Given the description of an element on the screen output the (x, y) to click on. 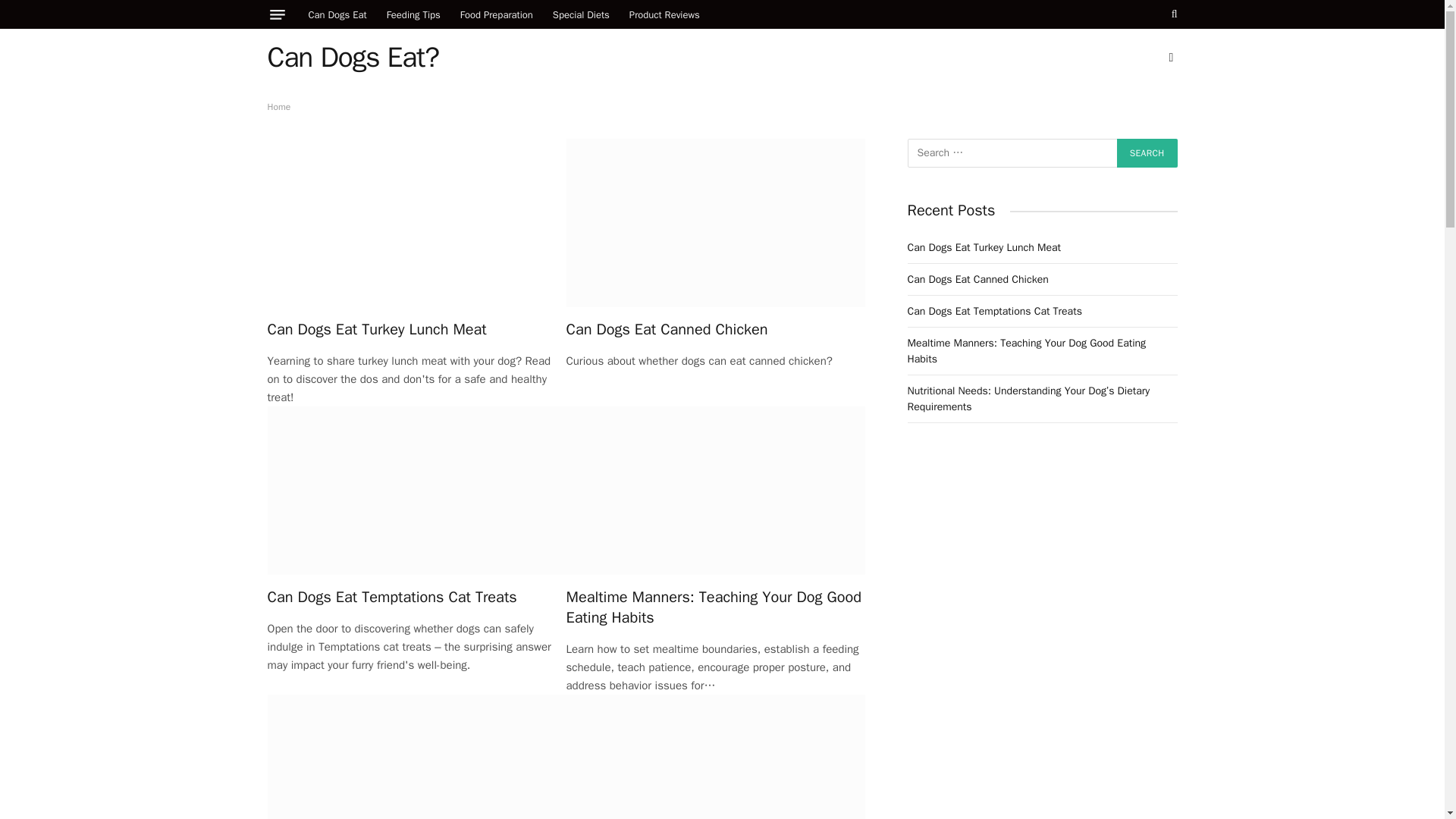
Search (1146, 152)
Feeding Tips (413, 14)
Mealtime Manners: Teaching Your Dog Good Eating Habits (715, 607)
Can Dogs Eat Turkey Lunch Meat (416, 222)
Can Dogs Eat Temptations Cat Treats (416, 597)
Can Dogs Eat? (352, 57)
Switch to Dark Design - easier on eyes. (1168, 57)
Can Dogs Eat Turkey Lunch Meat (416, 329)
Food Preparation (496, 14)
Can Dogs Eat? (352, 57)
Can Dogs Eat Canned Chicken (715, 222)
Can Dogs Eat Temptations Cat Treats (416, 490)
Search (1146, 152)
Special Diets (581, 14)
Can Dogs Eat (337, 14)
